Given the description of an element on the screen output the (x, y) to click on. 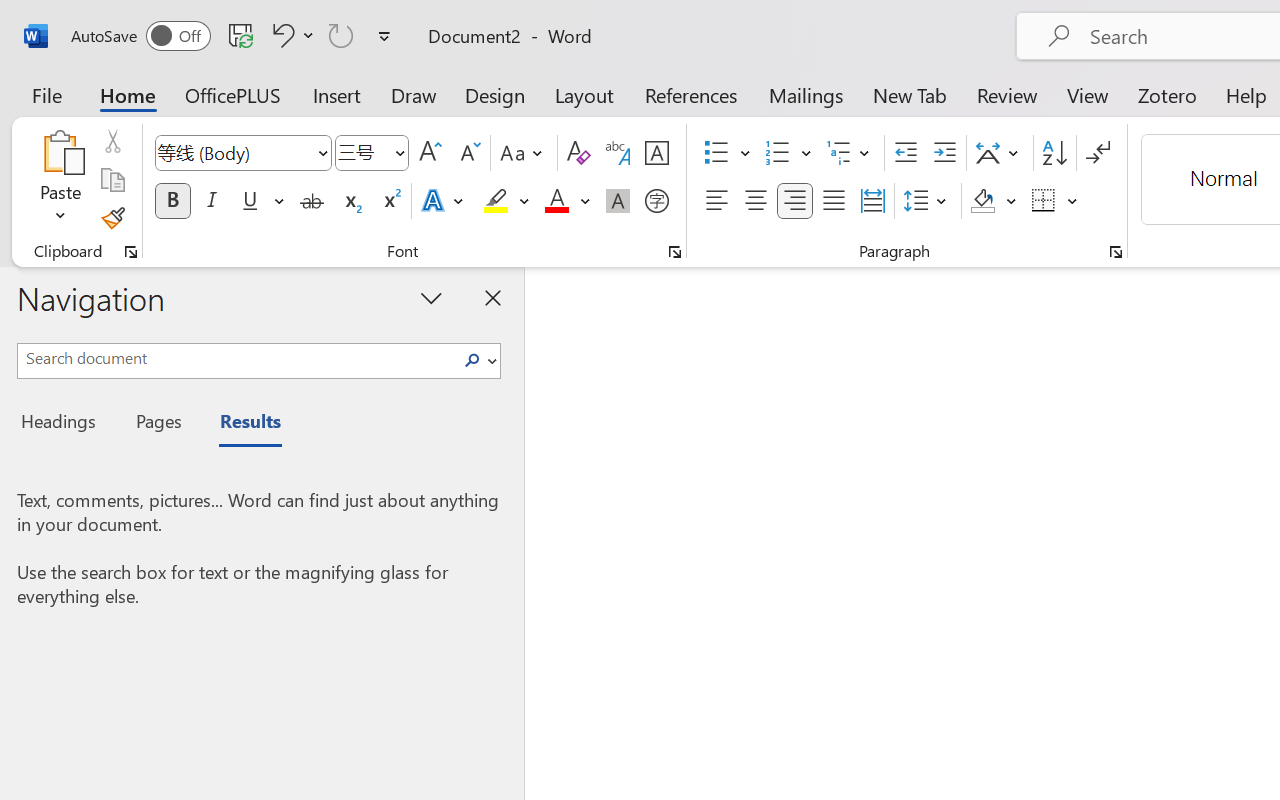
Search (478, 360)
Decrease Indent (906, 153)
Increase Indent (944, 153)
Results (240, 424)
Superscript (390, 201)
Search document (236, 358)
Text Highlight Color Yellow (495, 201)
View (1087, 94)
Pages (156, 424)
Change Case (524, 153)
File Tab (46, 94)
Mailings (806, 94)
Bold (172, 201)
